Given the description of an element on the screen output the (x, y) to click on. 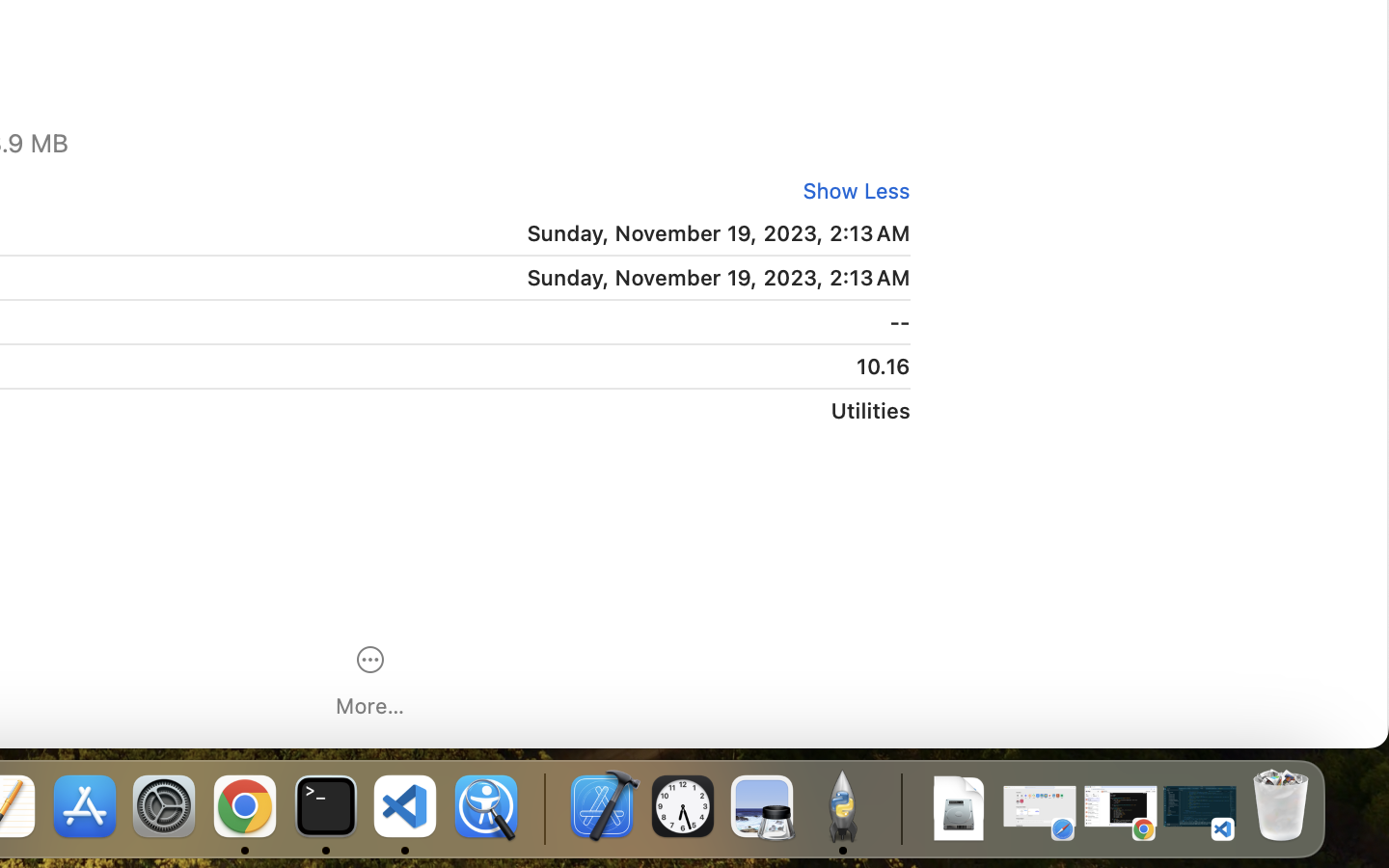
1 Element type: AXCheckBox (849, 190)
0.4285714328289032 Element type: AXDockItem (541, 807)
